Given the description of an element on the screen output the (x, y) to click on. 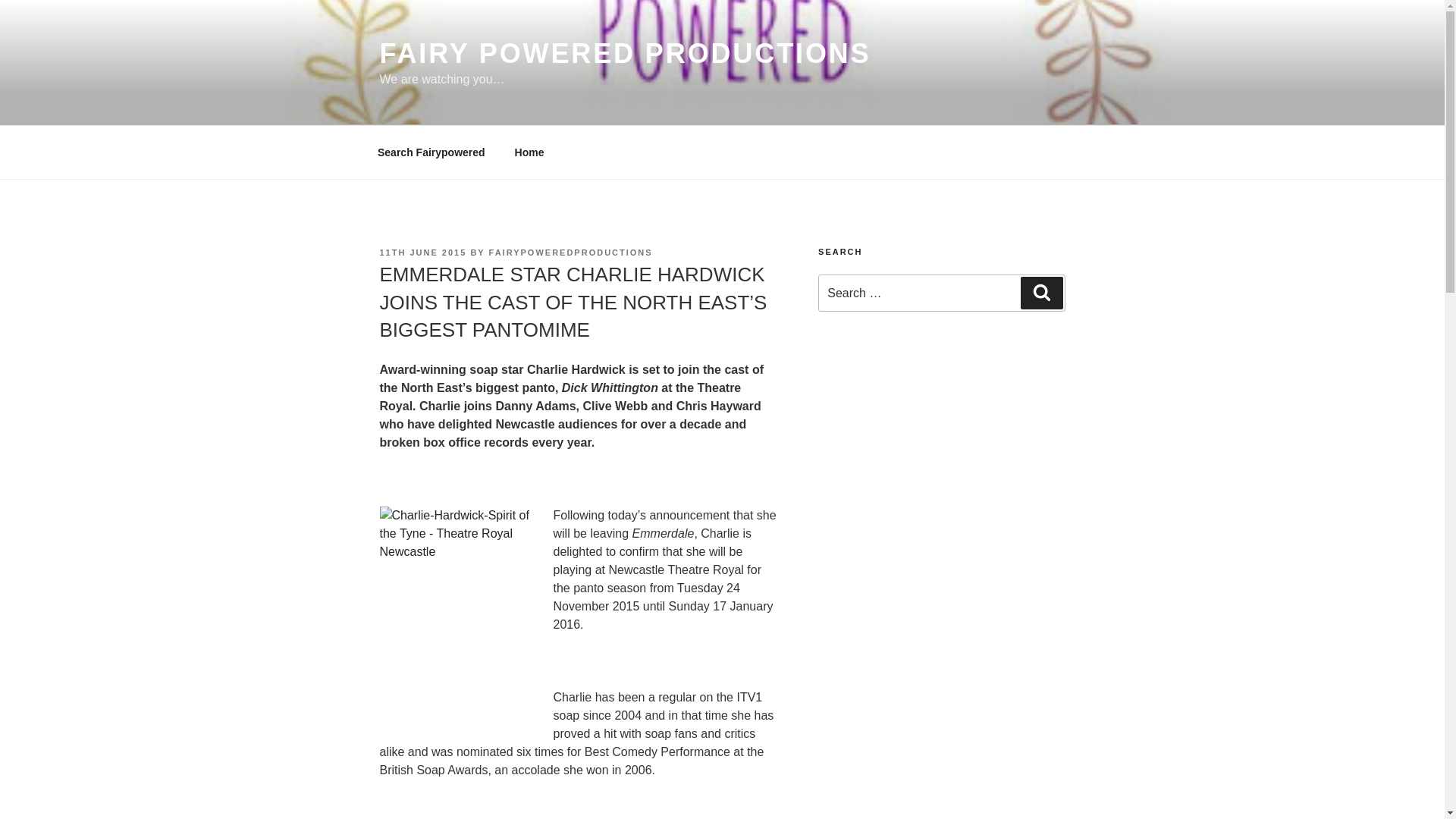
Home (528, 151)
11TH JUNE 2015 (421, 252)
FAIRY POWERED PRODUCTIONS (624, 52)
FAIRYPOWEREDPRODUCTIONS (570, 252)
Search (1041, 292)
Search Fairypowered (430, 151)
